Given the description of an element on the screen output the (x, y) to click on. 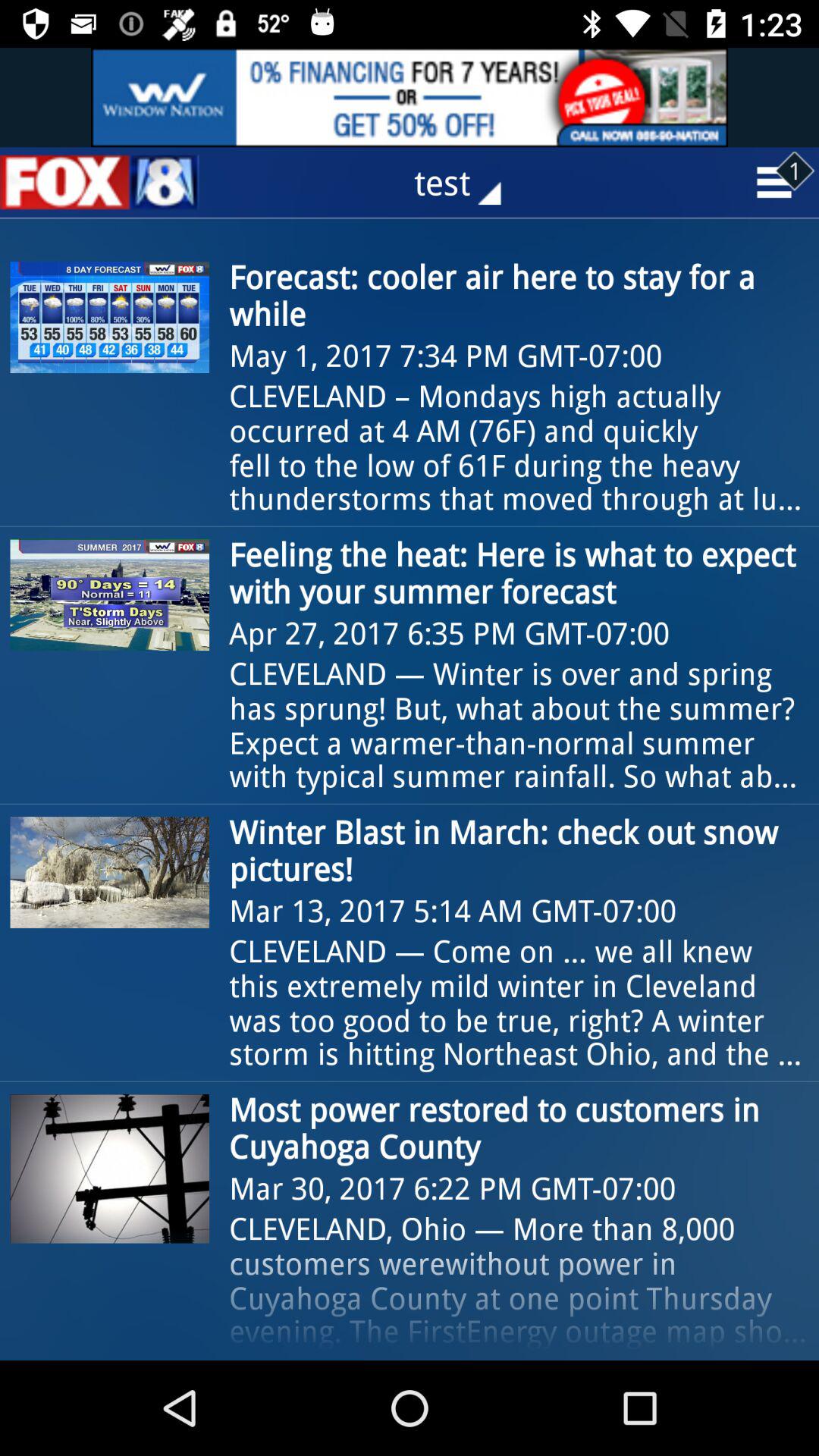
turn off the icon to the left of test item (99, 182)
